Given the description of an element on the screen output the (x, y) to click on. 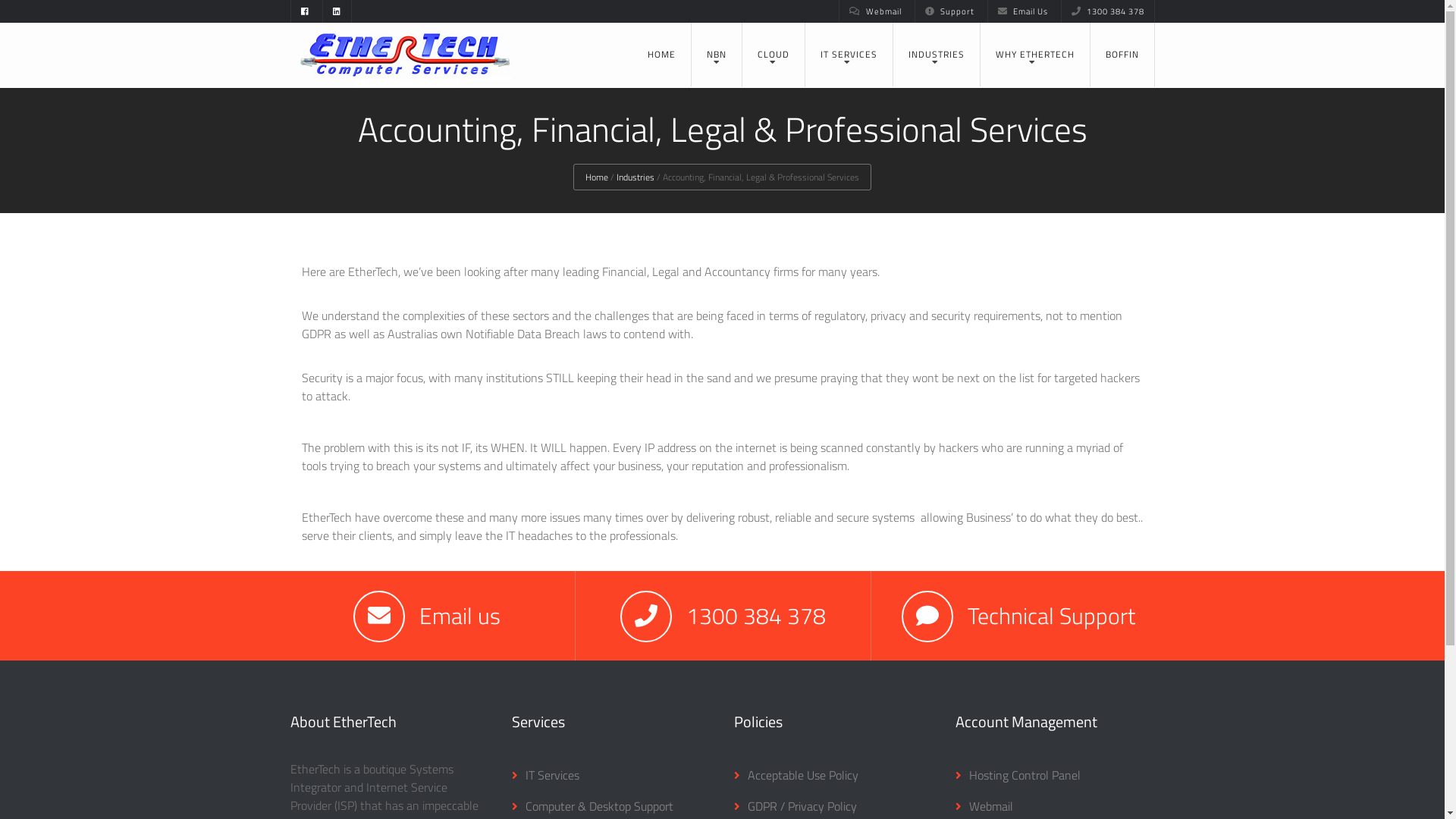
Industries Element type: text (635, 176)
Email Us Element type: text (1022, 11)
1300 384 378 Element type: text (755, 614)
WHY ETHERTECH Element type: text (1033, 54)
BOFFIN Element type: text (1122, 54)
Support Element type: text (948, 11)
Home Element type: text (596, 176)
INDUSTRIES Element type: text (936, 54)
IT Services Element type: text (545, 774)
CLOUD Element type: text (772, 54)
Technical Support Element type: text (1051, 614)
NBN Element type: text (716, 54)
1300 384 378 Element type: text (1107, 11)
Acceptable Use Policy Element type: text (796, 774)
Email us Element type: text (458, 614)
HOME Element type: text (661, 54)
IT SERVICES Element type: text (848, 54)
Webmail Element type: text (874, 11)
Hosting Control Panel Element type: text (1017, 774)
